Given the description of an element on the screen output the (x, y) to click on. 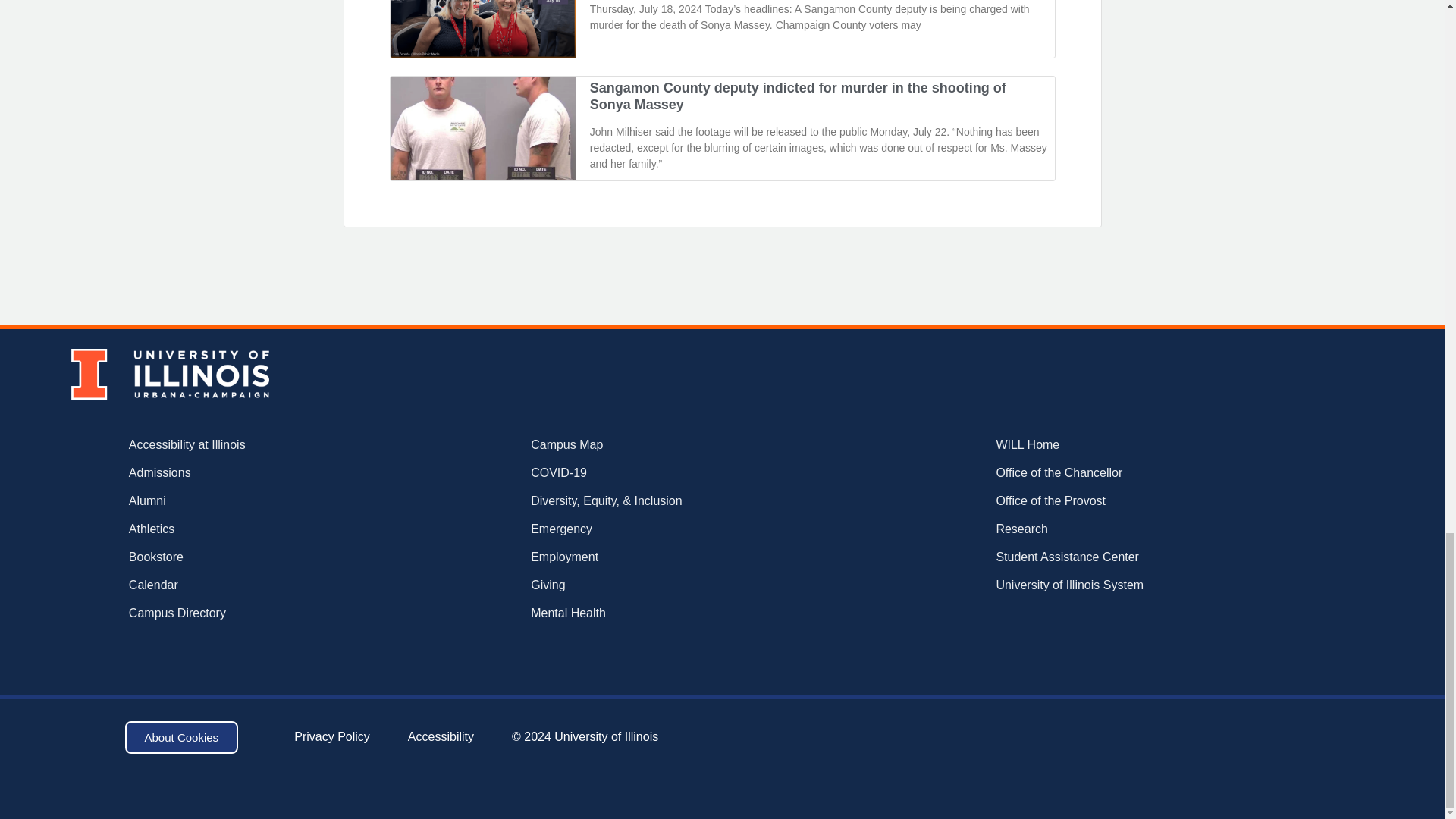
Athletics (235, 529)
Accessibility at Illinois (235, 444)
Bookstore (235, 556)
Admissions (235, 473)
Alumni (235, 501)
